Given the description of an element on the screen output the (x, y) to click on. 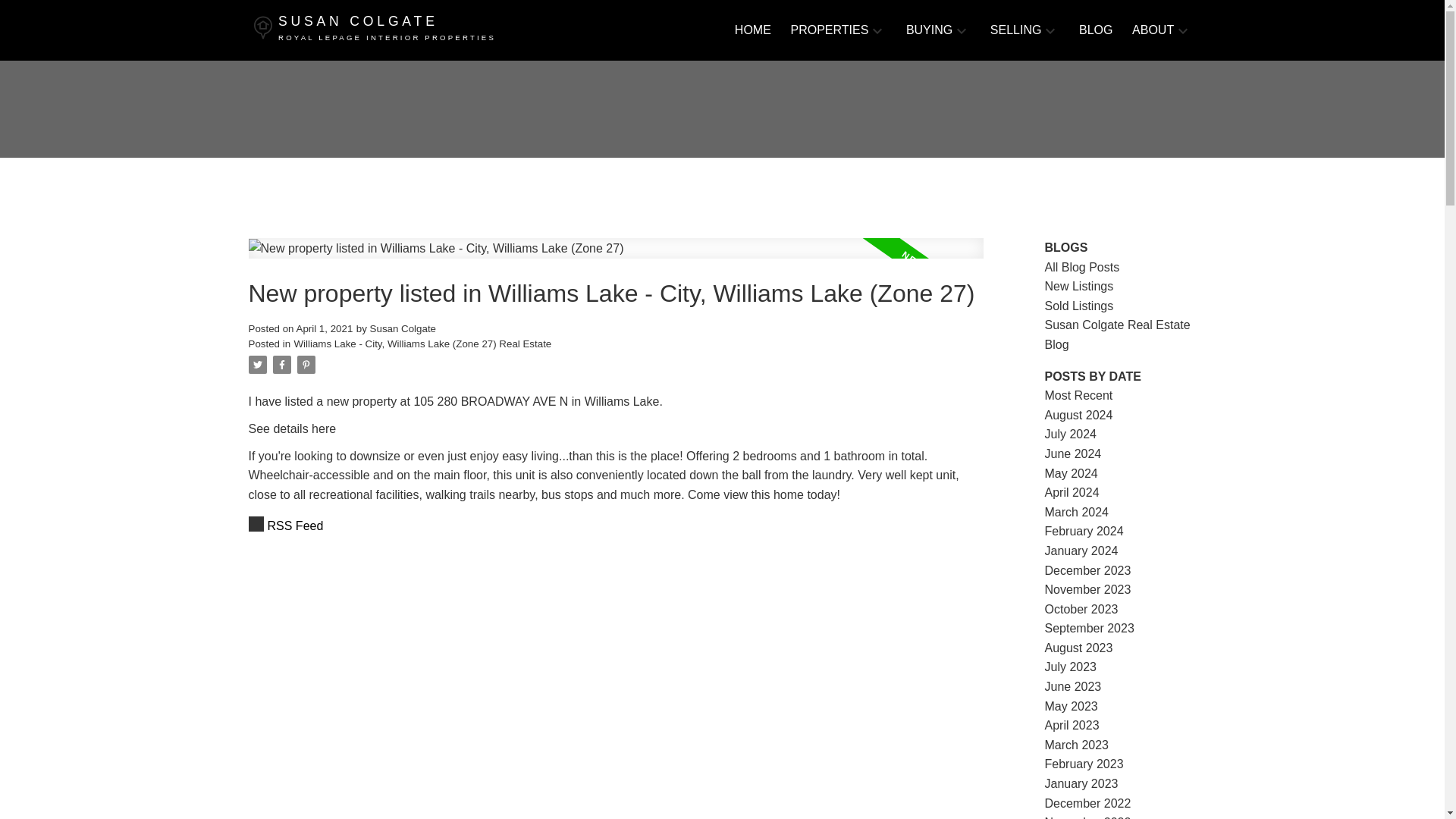
SELLING (1016, 30)
BLOG (1095, 30)
BUYING (928, 30)
RSS (374, 30)
ABOUT (616, 526)
PROPERTIES (1152, 30)
HOME (828, 30)
